Given the description of an element on the screen output the (x, y) to click on. 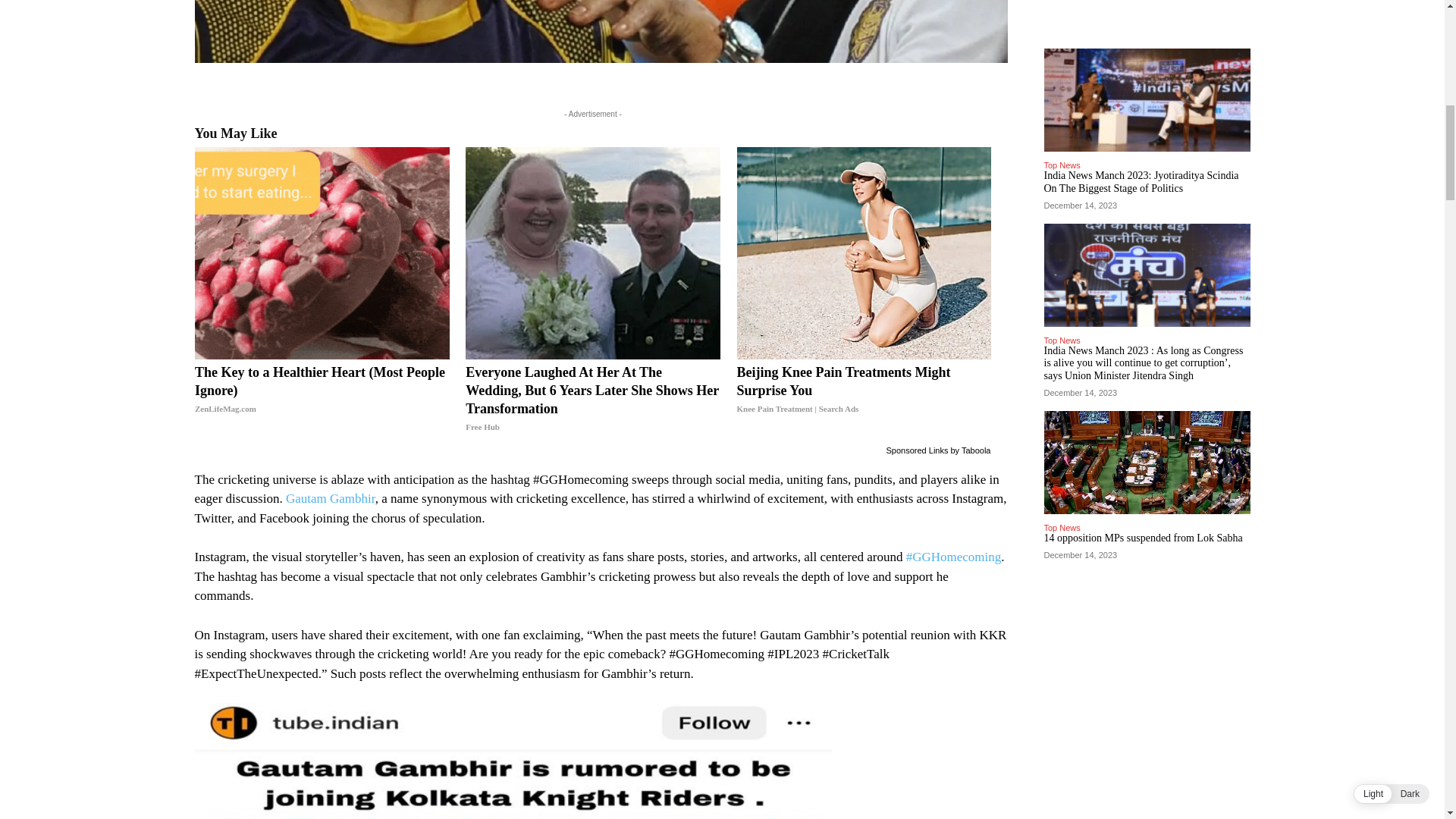
Gambhir (600, 31)
